Given the description of an element on the screen output the (x, y) to click on. 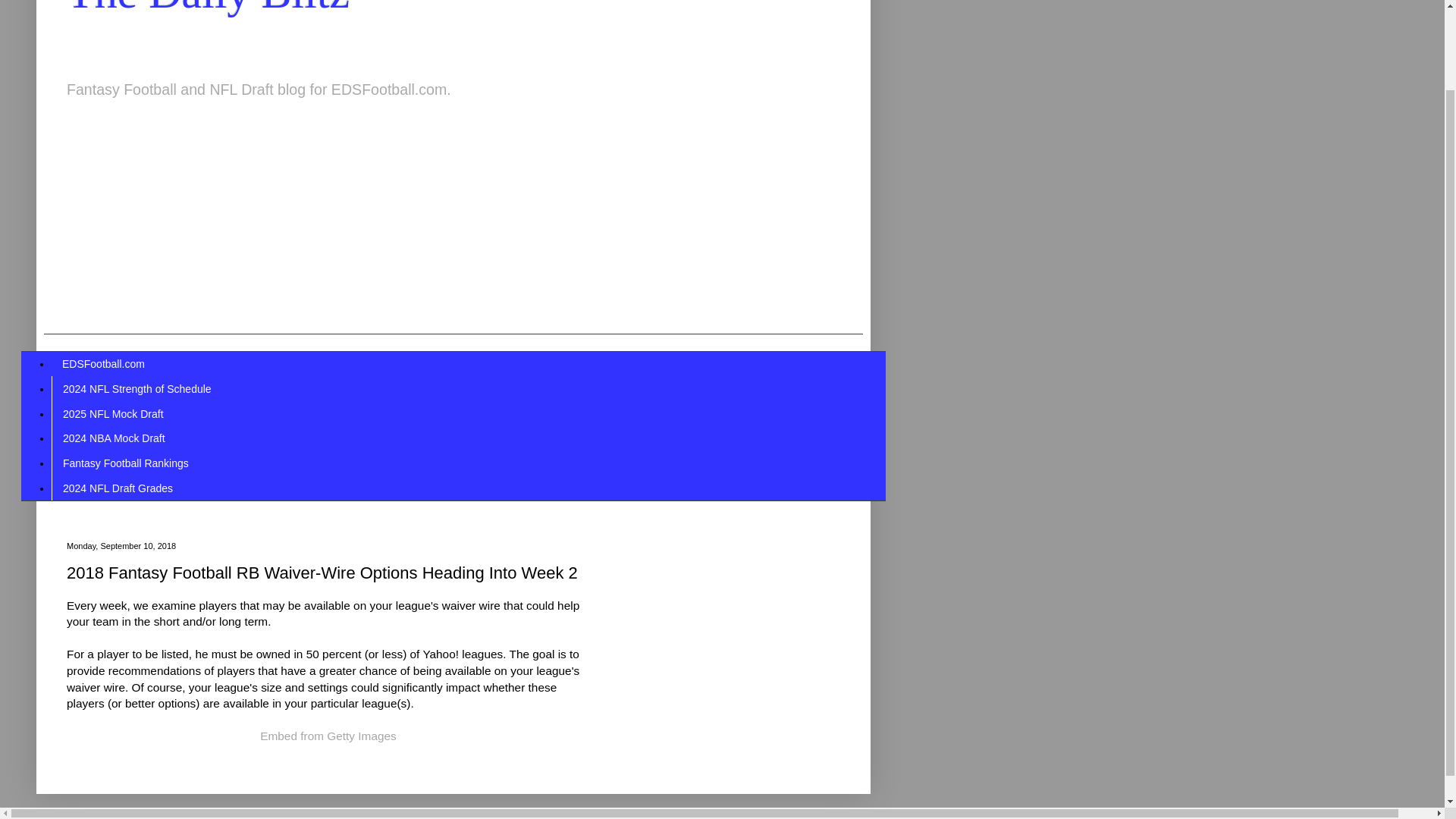
2024 NFL Strength of Schedule (136, 388)
2024 NBA Mock Draft (113, 438)
Fantasy Football Rankings (124, 463)
2024 NFL Draft Grades (116, 487)
The Daily Blitz (207, 8)
2025 NFL Mock Draft (112, 413)
EDSFootball.com (102, 364)
Embed from Getty Images (328, 736)
